Given the description of an element on the screen output the (x, y) to click on. 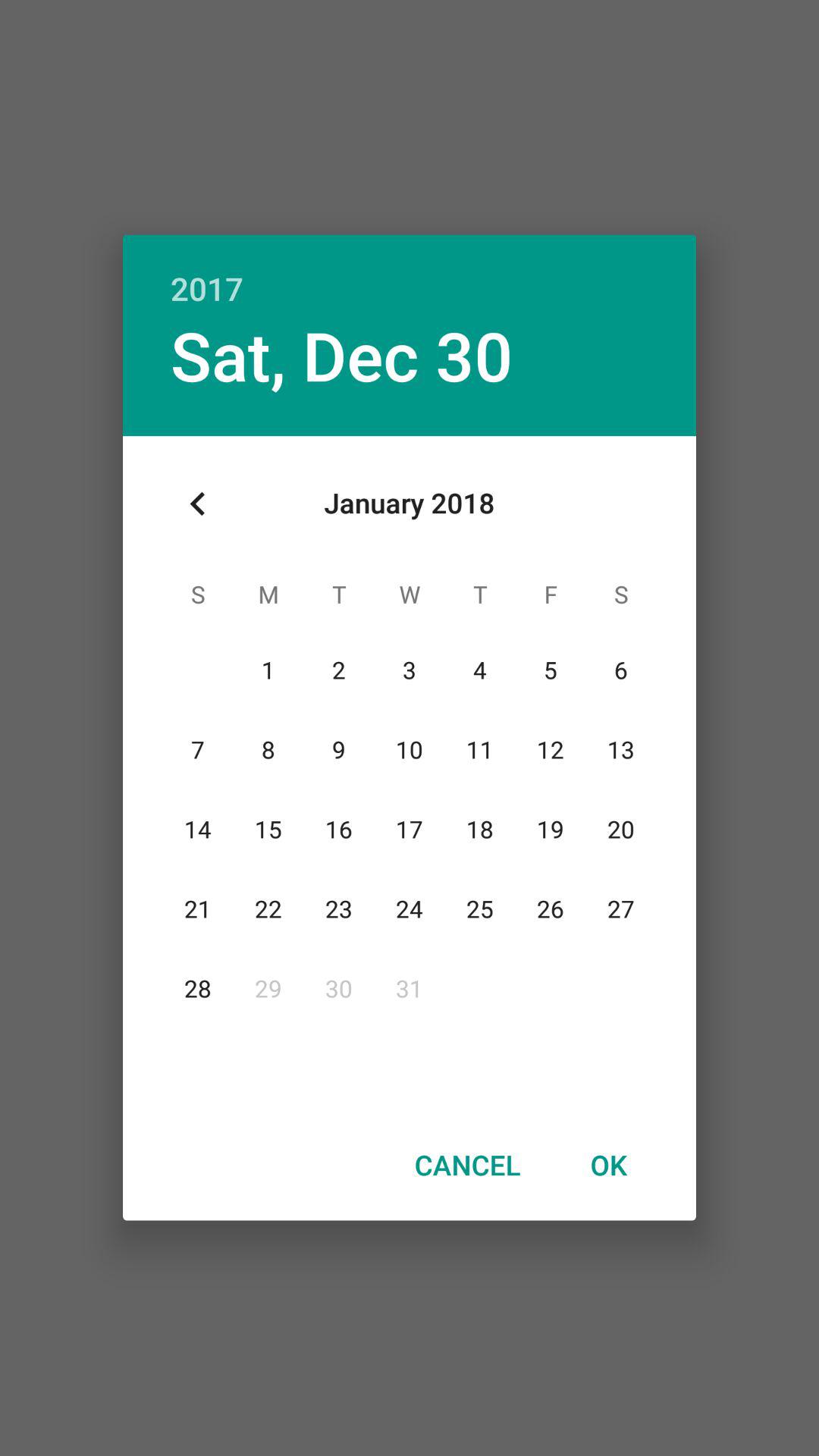
select icon next to the cancel (608, 1164)
